Given the description of an element on the screen output the (x, y) to click on. 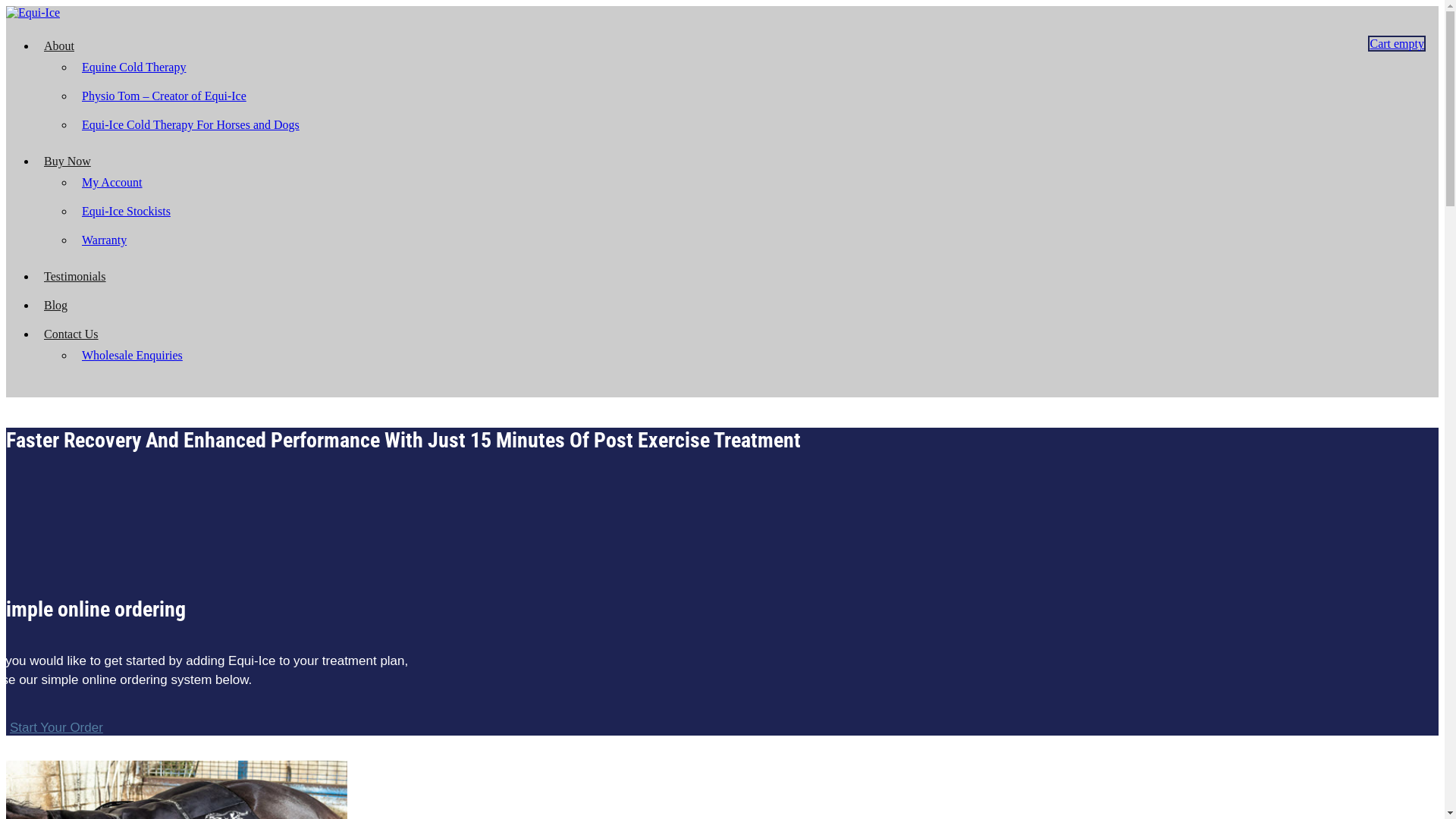
Cart empty Element type: text (1396, 43)
Testimonials Element type: text (74, 275)
Buy Now Element type: text (67, 160)
Wholesale Enquiries Element type: text (131, 354)
About Element type: text (58, 45)
Equi-Ice Stockists Element type: text (125, 210)
Equine Cold Therapy Element type: text (133, 66)
Equi-Ice Cold Therapy For Horses and Dogs Element type: text (190, 124)
Blog Element type: text (55, 304)
My Account Element type: text (111, 181)
Warranty Element type: text (103, 239)
Contact Us Element type: text (70, 333)
